Given the description of an element on the screen output the (x, y) to click on. 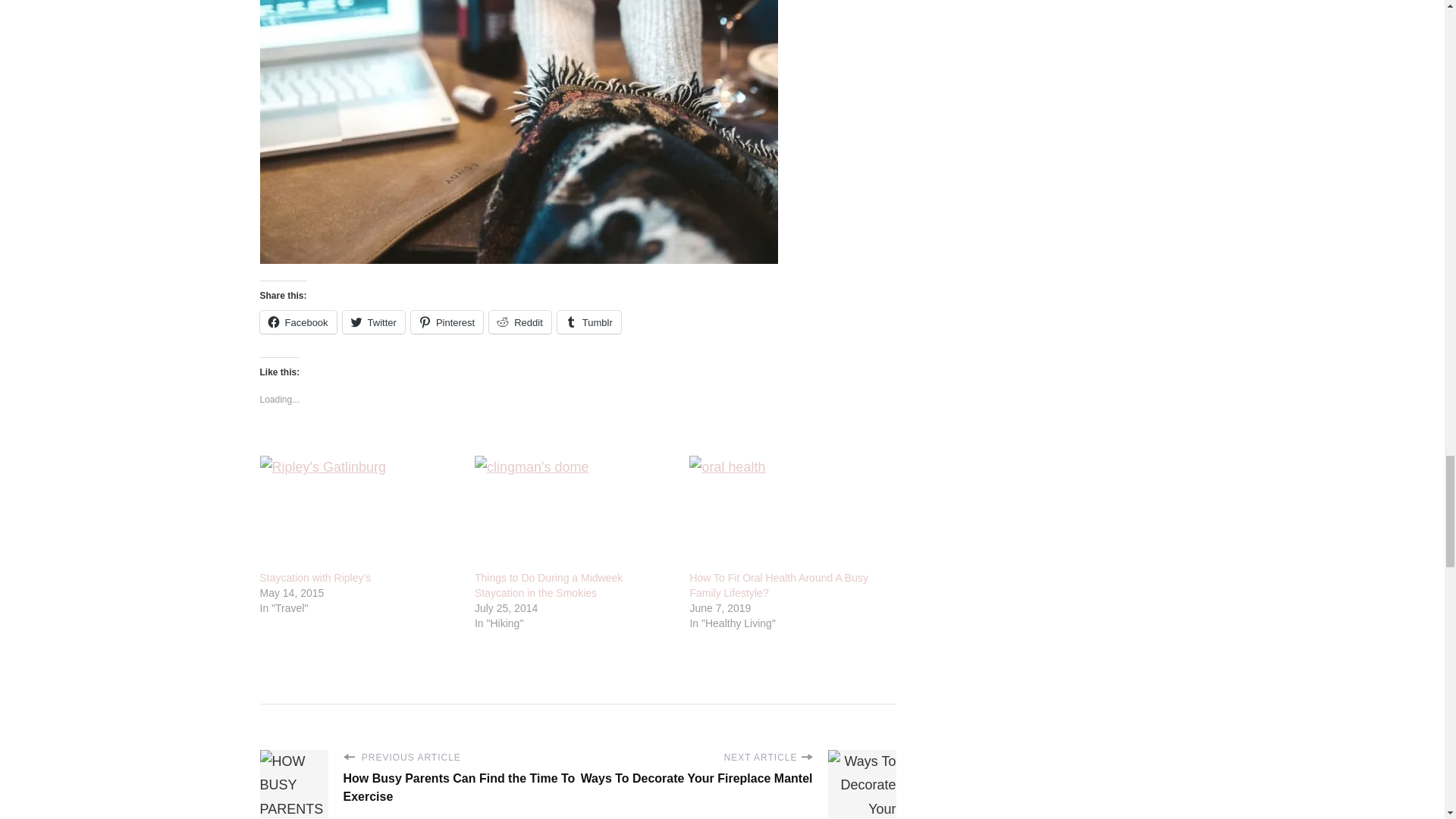
Click to share on Tumblr (589, 322)
How To Fit Oral Health Around A Busy Family Lifestyle? (788, 512)
Click to share on Twitter (373, 322)
Things to Do During a Midweek Staycation in the Smokies (548, 584)
Click to share on Pinterest (446, 322)
Things to Do During a Midweek Staycation in the Smokies (574, 512)
Click to share on Reddit (520, 322)
How To Fit Oral Health Around A Busy Family Lifestyle? (777, 584)
Click to share on Facebook (297, 322)
